Given the description of an element on the screen output the (x, y) to click on. 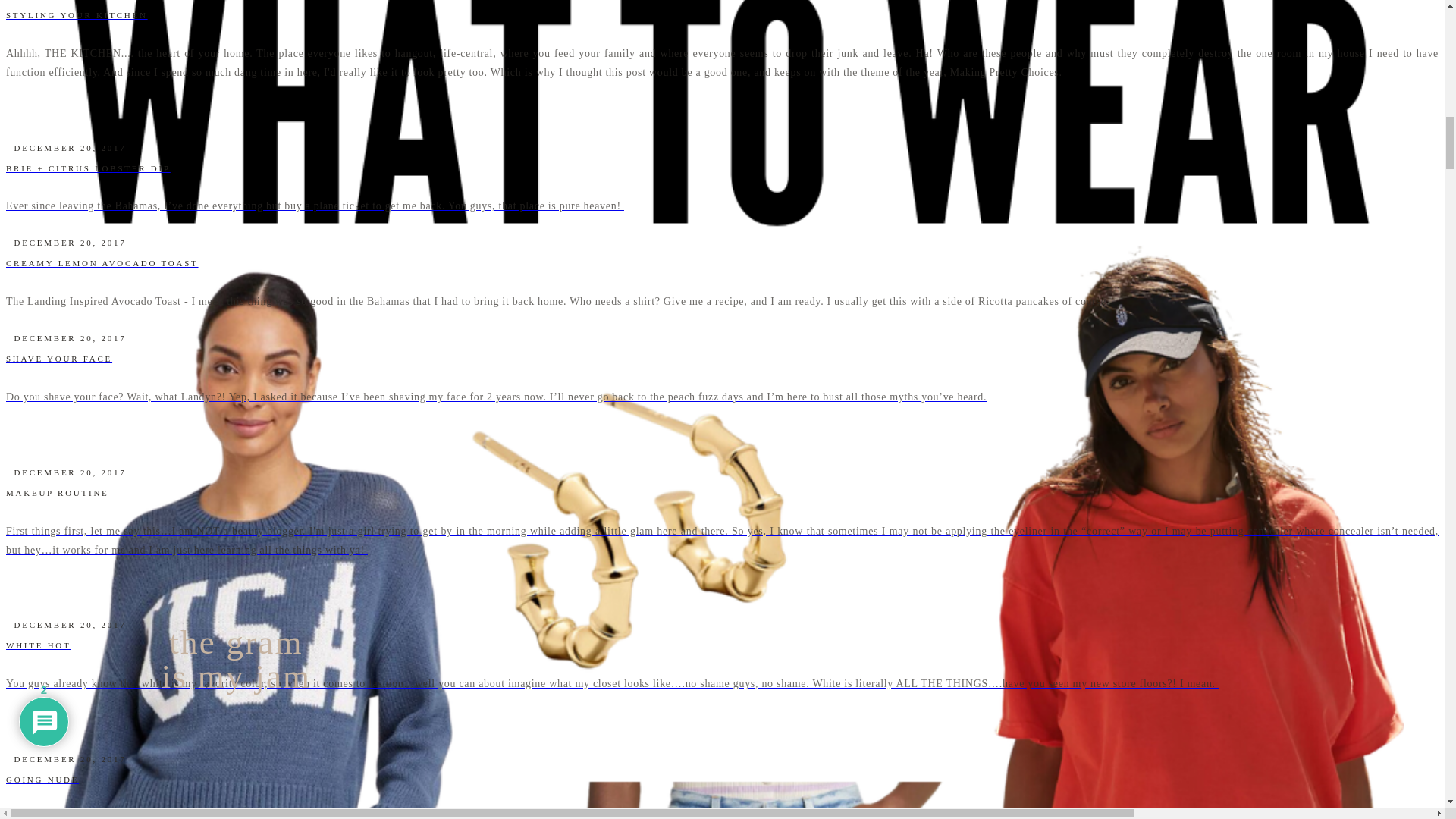
LIVING WITH LANDYN (460, 435)
NASHVILLE (460, 488)
STYLE (460, 467)
